Given the description of an element on the screen output the (x, y) to click on. 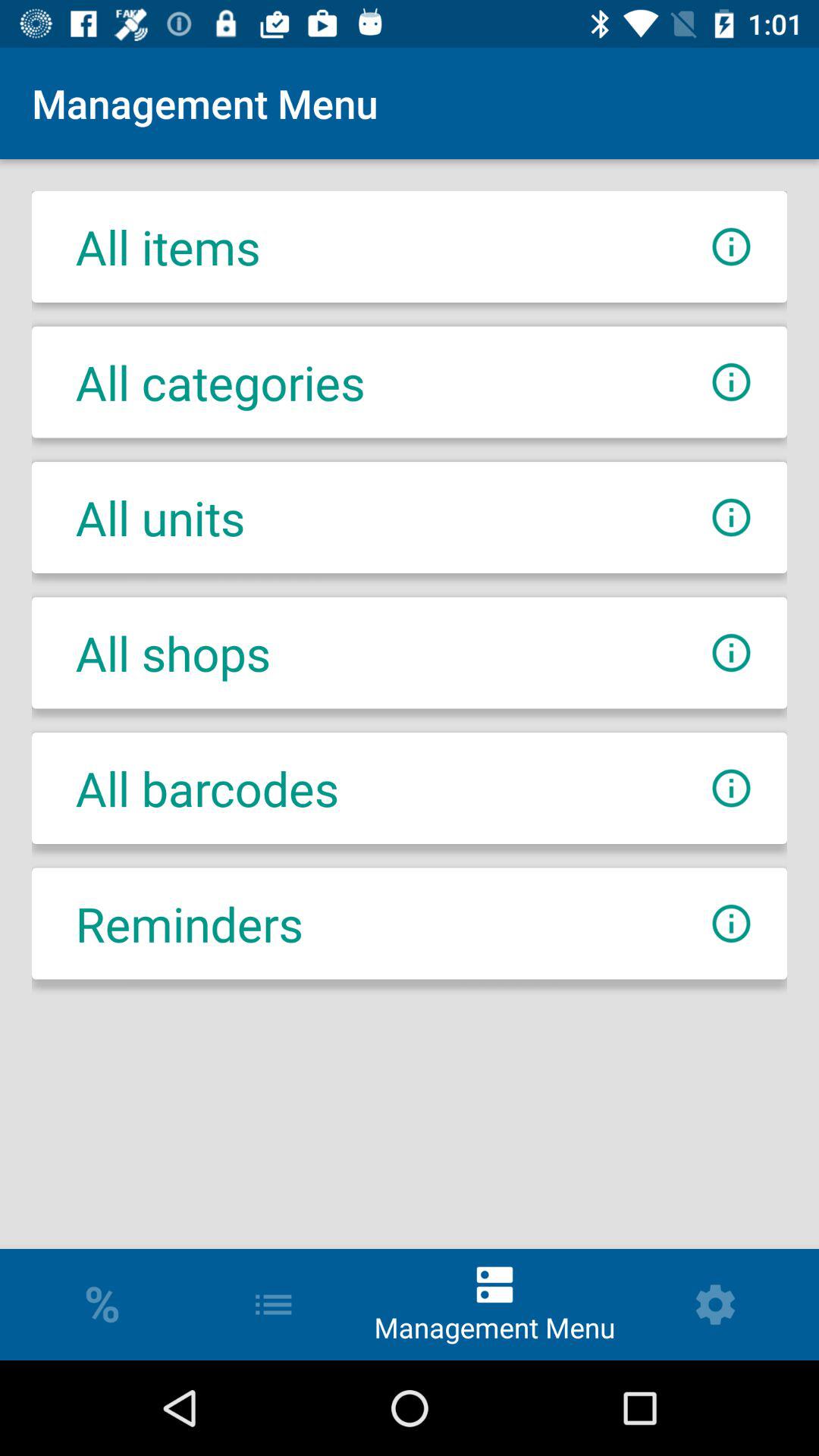
view information about the reminders tab (731, 923)
